Given the description of an element on the screen output the (x, y) to click on. 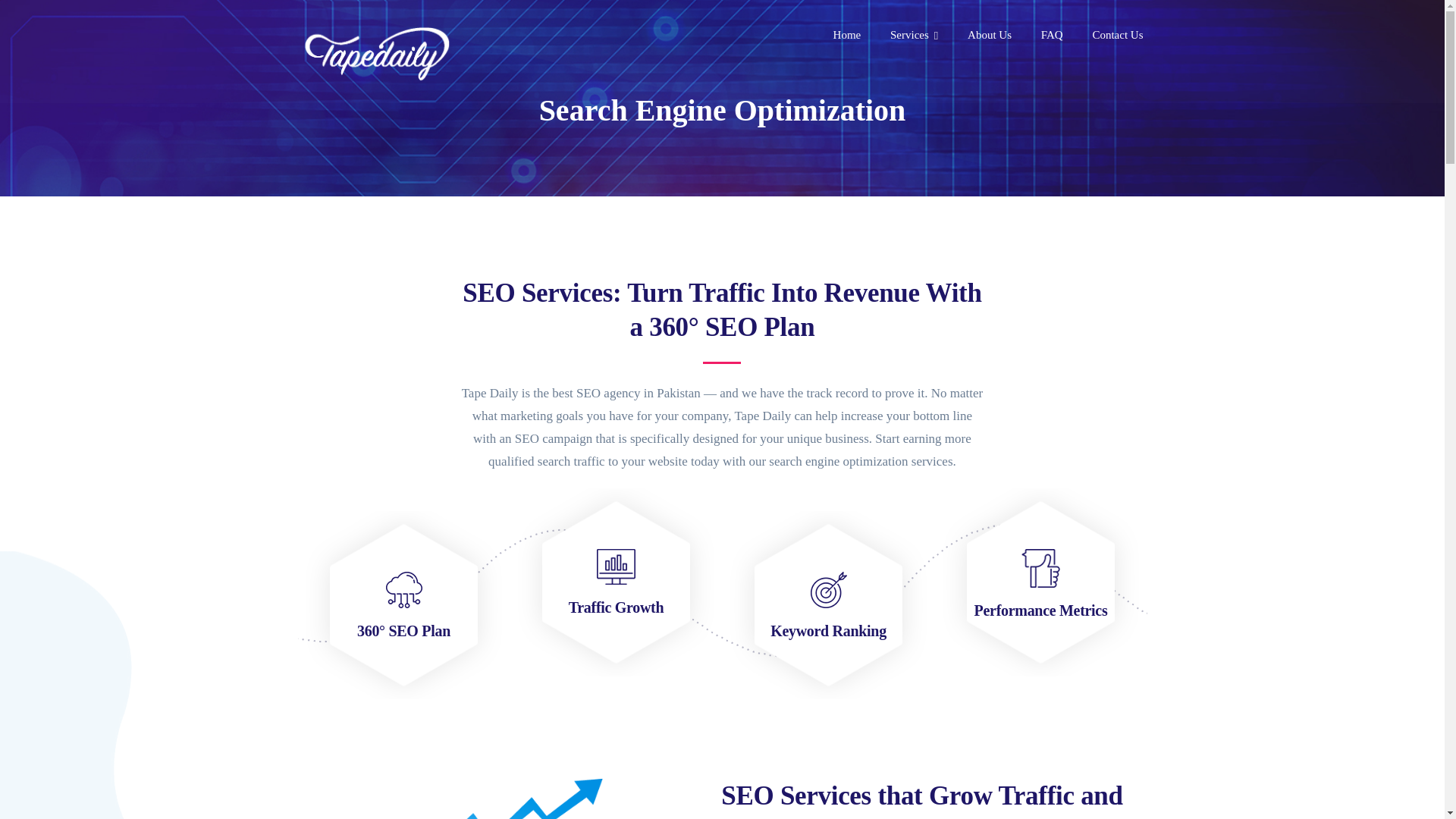
Services (913, 36)
Contact Us (1117, 36)
Home (846, 36)
About Us (989, 36)
